Given the description of an element on the screen output the (x, y) to click on. 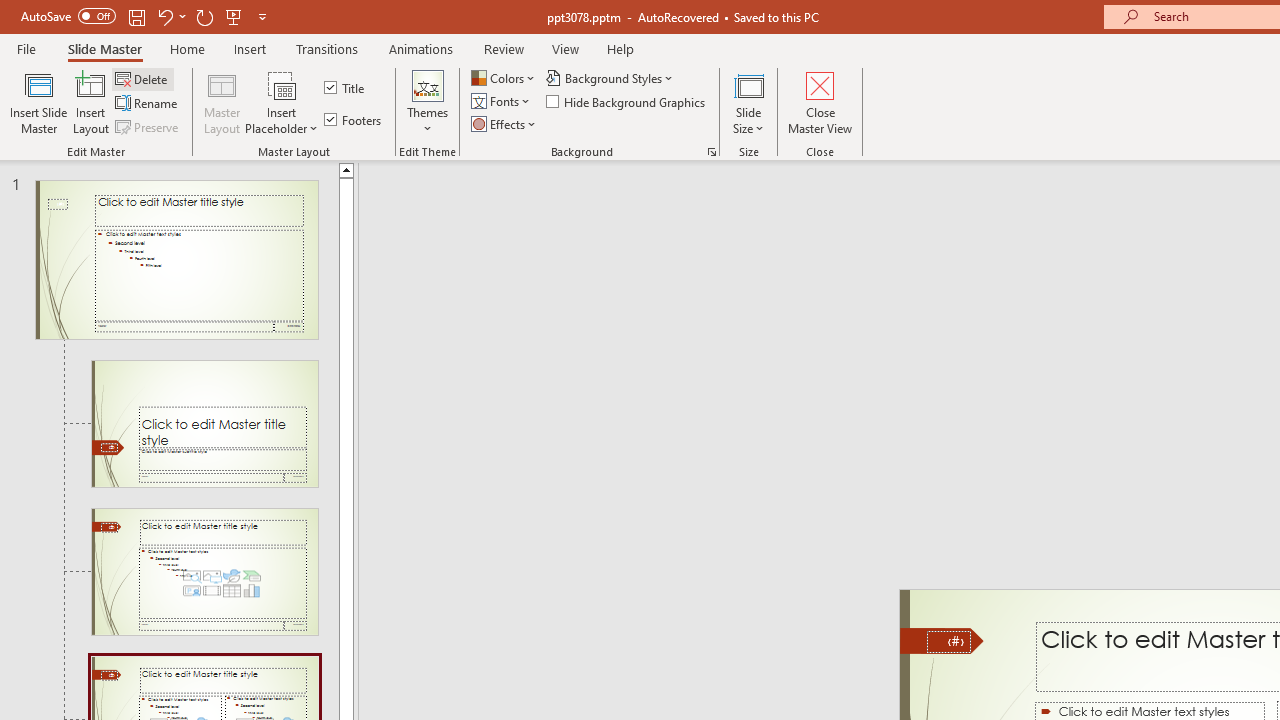
Fonts (502, 101)
Slide Wisp Slide Master: used by slide(s) 1 (176, 259)
Master Layout... (221, 102)
Slide Master (104, 48)
Insert Slide Master (38, 102)
Insert Placeholder (282, 102)
Format Background... (711, 151)
Slide Size (749, 102)
Hide Background Graphics (626, 101)
